Given the description of an element on the screen output the (x, y) to click on. 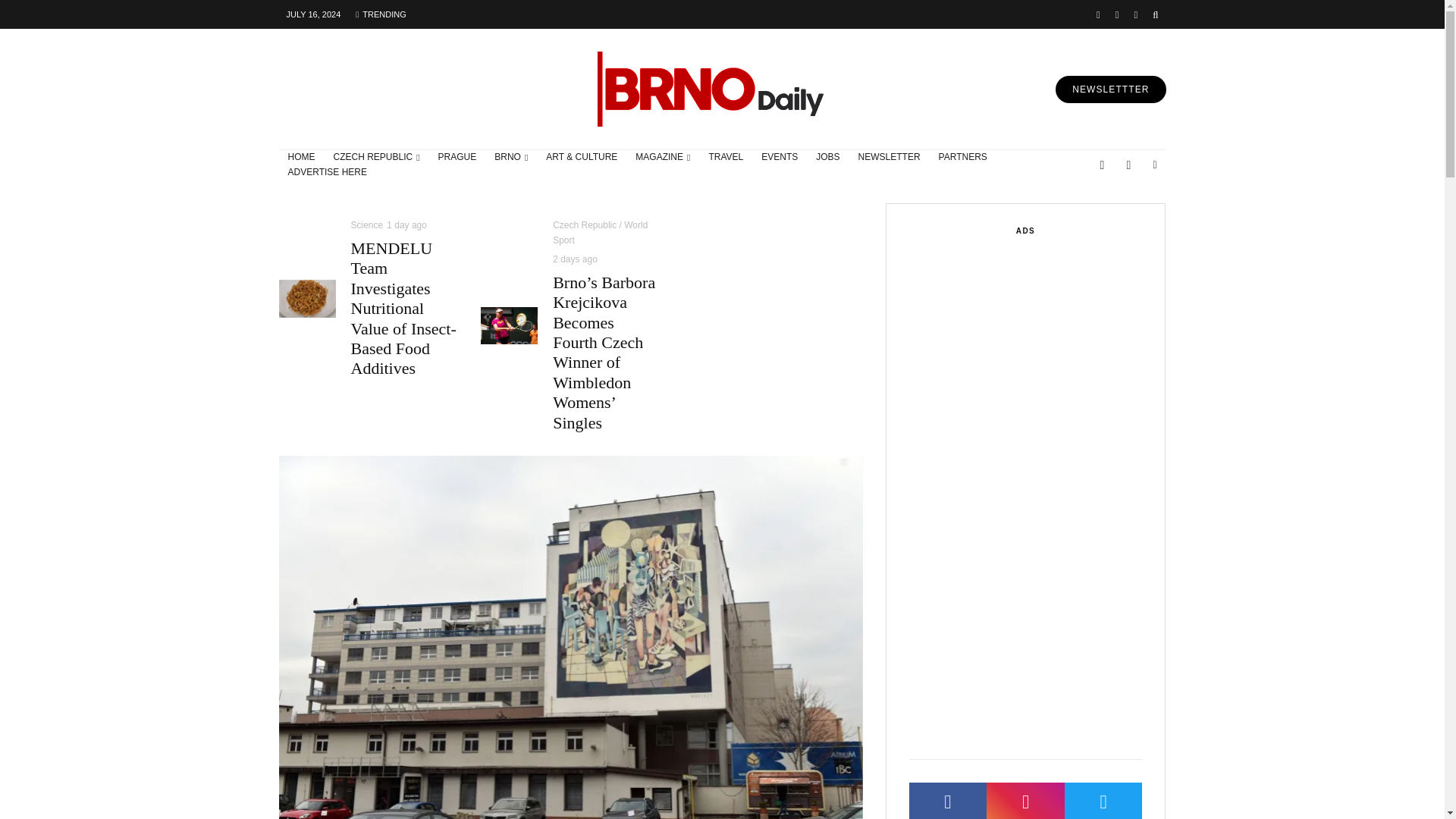
NEWSLETTTER (1110, 89)
HOME (301, 157)
CZECH REPUBLIC (376, 157)
PRAGUE (457, 157)
TRENDING (380, 14)
